Given the description of an element on the screen output the (x, y) to click on. 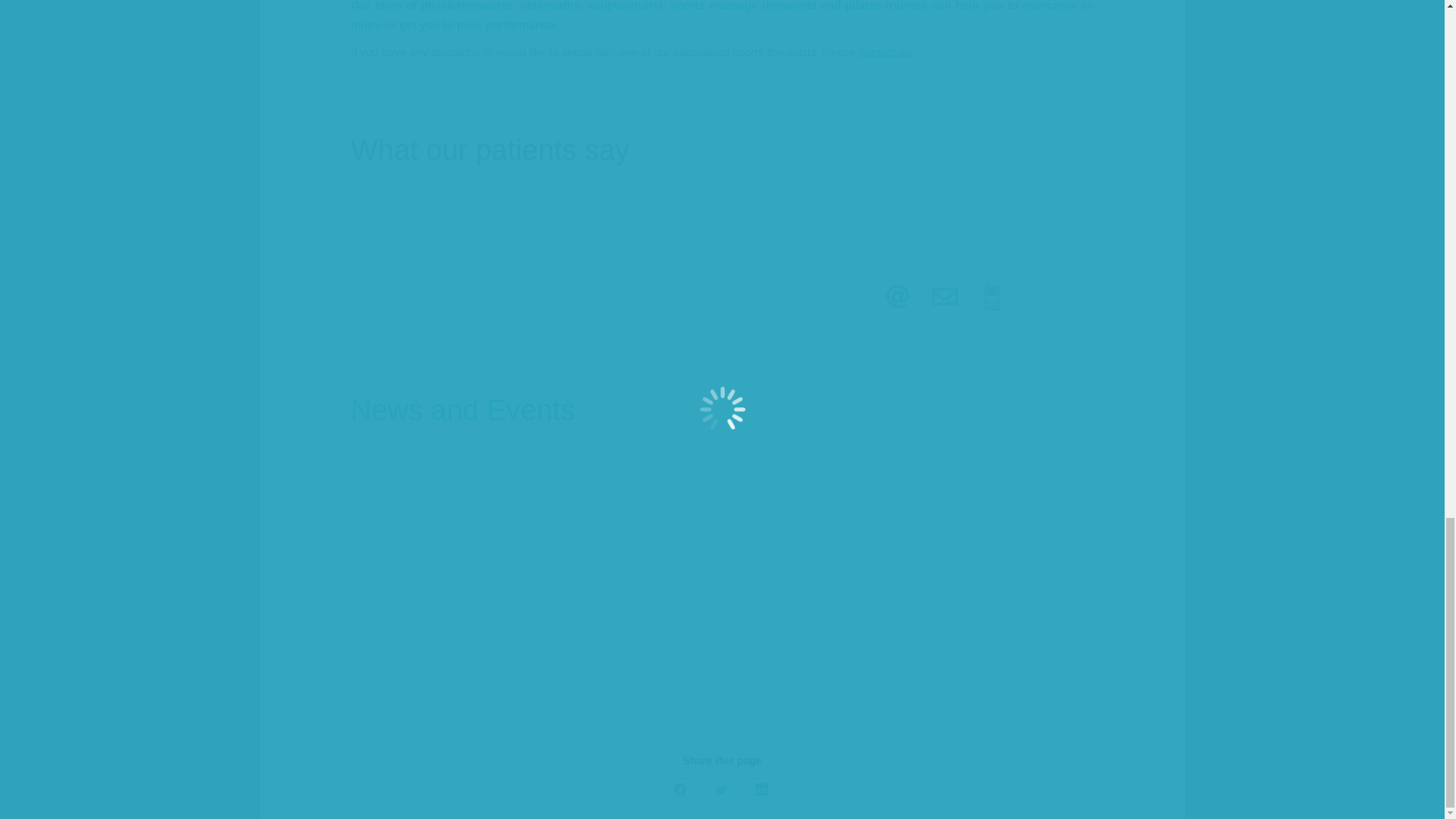
LinkedIn (761, 789)
Twitter (720, 789)
Facebook (679, 789)
